Given the description of an element on the screen output the (x, y) to click on. 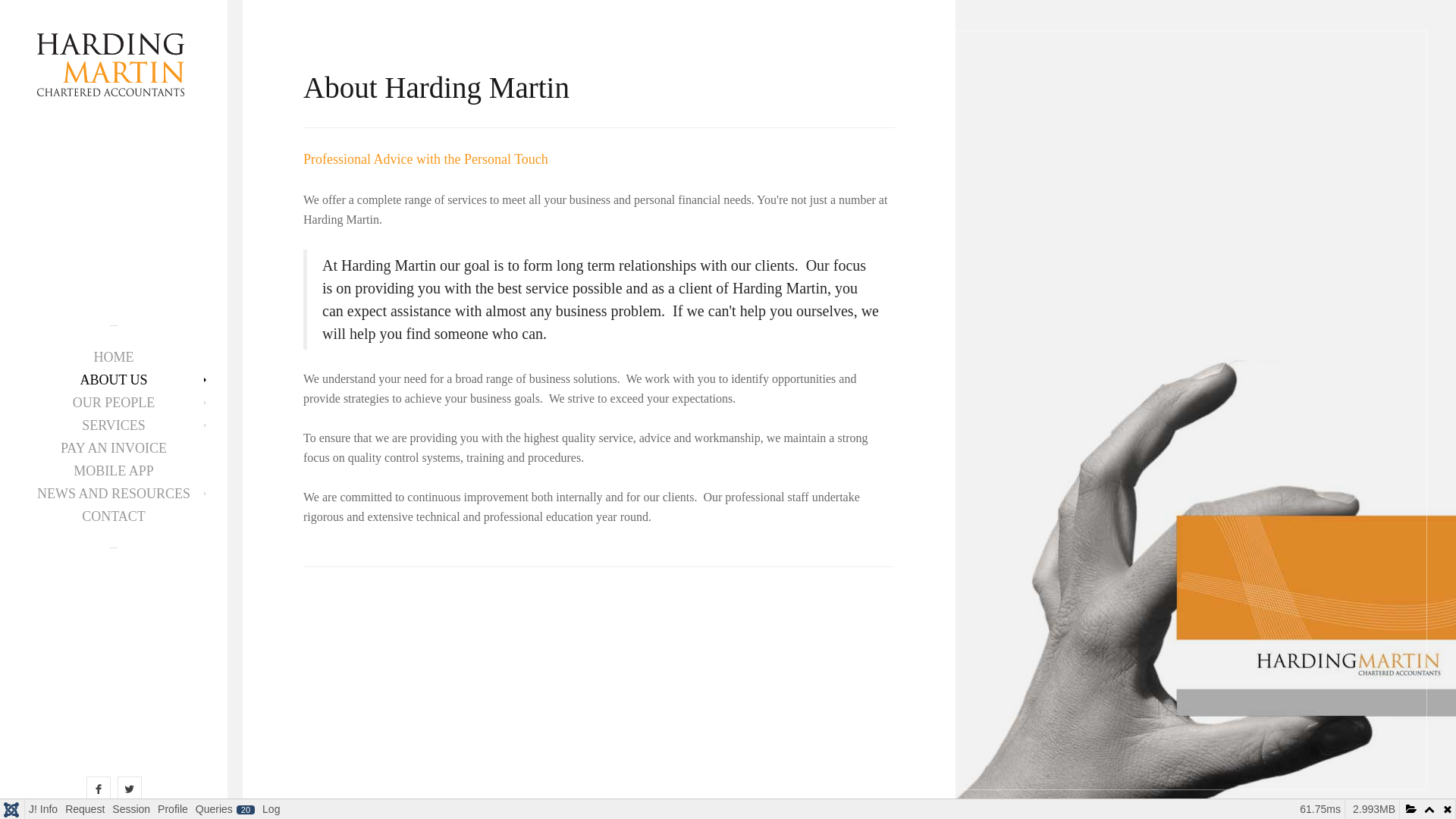
HOME Element type: text (113, 356)
NEWS AND RESOURCES Element type: text (113, 493)
MOBILE APP Element type: text (113, 470)
ABOUT US Element type: text (113, 379)
PAY AN INVOICE Element type: text (113, 447)
CONTACT Element type: text (113, 516)
